Given the description of an element on the screen output the (x, y) to click on. 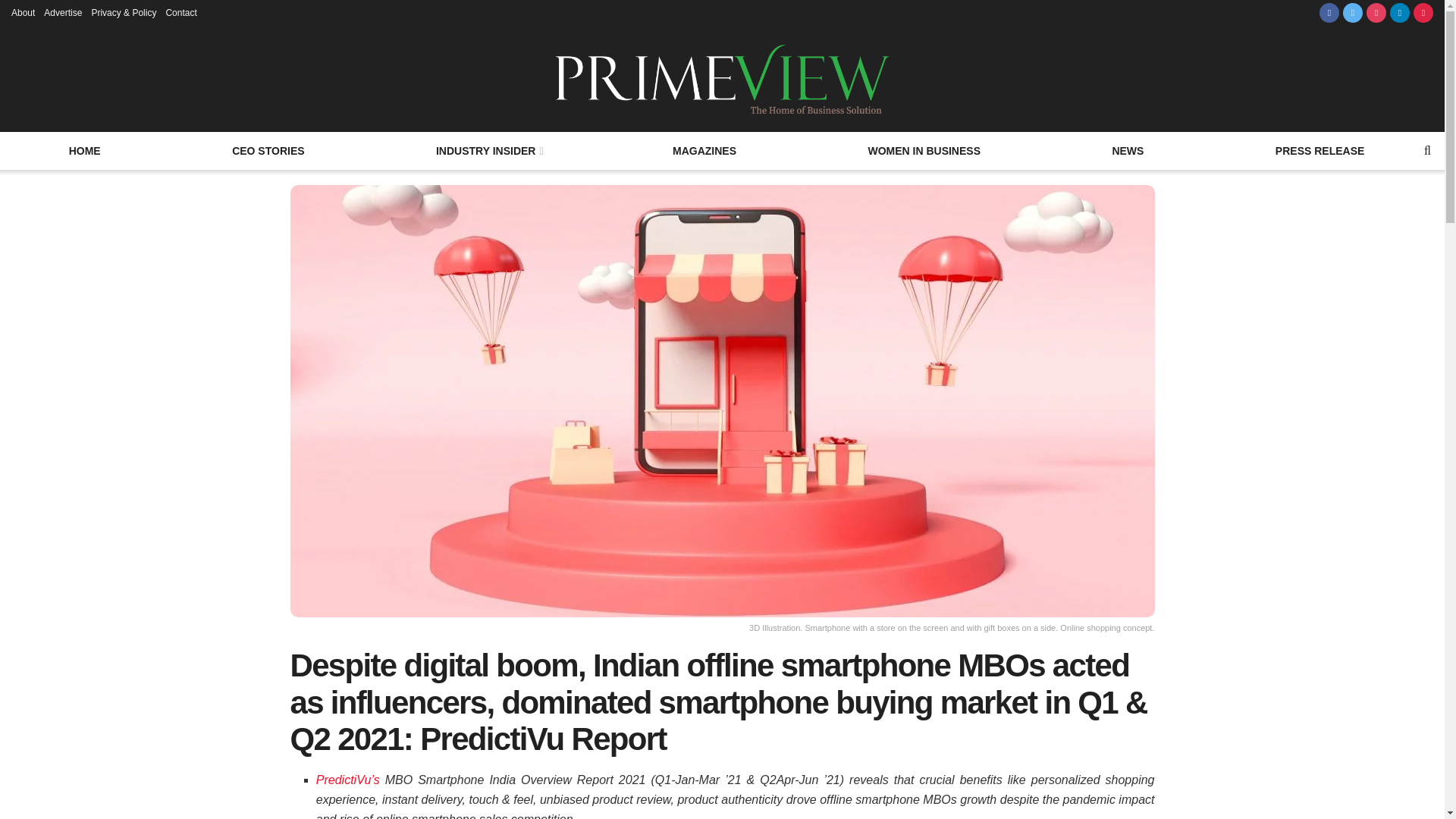
CEO STORIES (267, 150)
PRESS RELEASE (1319, 150)
WOMEN IN BUSINESS (923, 150)
Contact (180, 12)
INDUSTRY INSIDER (488, 150)
MAGAZINES (704, 150)
Advertise (62, 12)
About (22, 12)
NEWS (1127, 150)
HOME (84, 150)
